Given the description of an element on the screen output the (x, y) to click on. 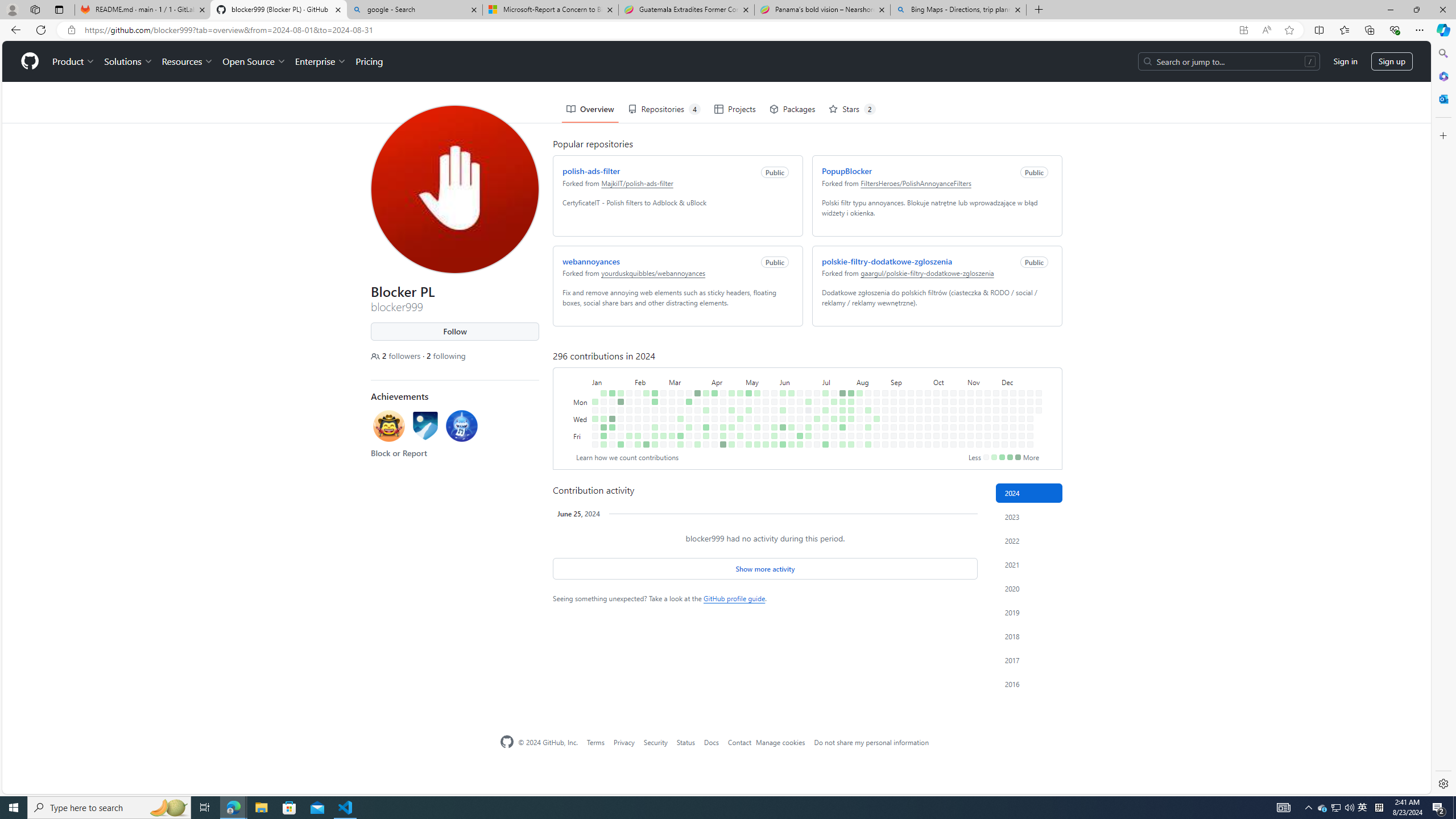
No contributions on October 24th. (950, 386)
No contributions on November 1st. (962, 435)
No contributions on September 10th. (899, 369)
September (908, 339)
webannoyances (588, 220)
No contributions on May 24th. (763, 394)
Contribution activity in 2020 (1028, 588)
2 contributions on April 21st. (729, 351)
No contributions on October 21st. (950, 360)
2 contributions on June 4th. (780, 369)
No contributions on January 24th. (618, 377)
gaargul/polskie-filtry-dodatkowe-zgloszenia (924, 231)
No contributions on February 1st. (627, 386)
No contributions on August 7th. (857, 377)
June (797, 339)
